Given the description of an element on the screen output the (x, y) to click on. 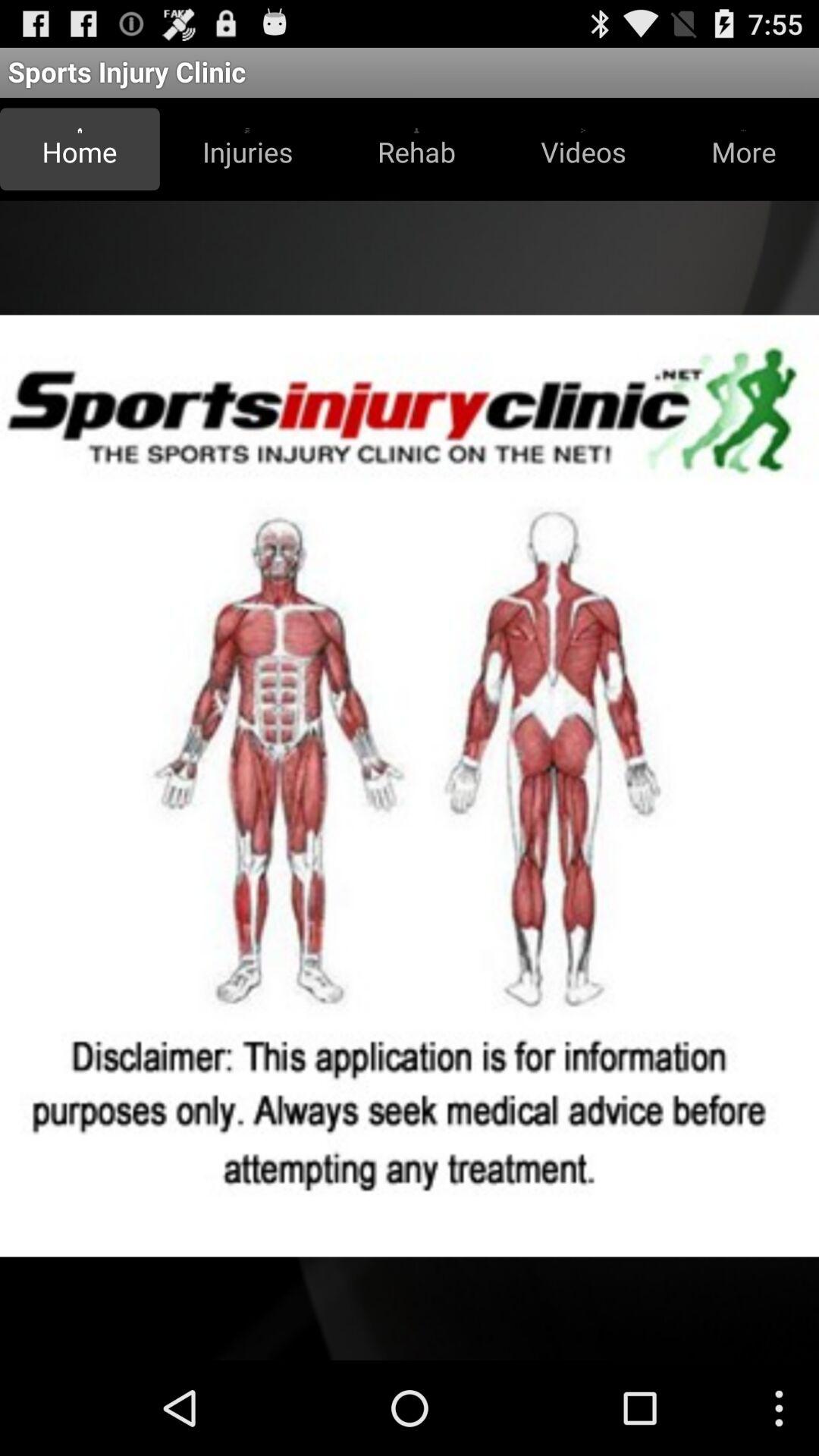
launch icon next to injuries button (79, 149)
